Given the description of an element on the screen output the (x, y) to click on. 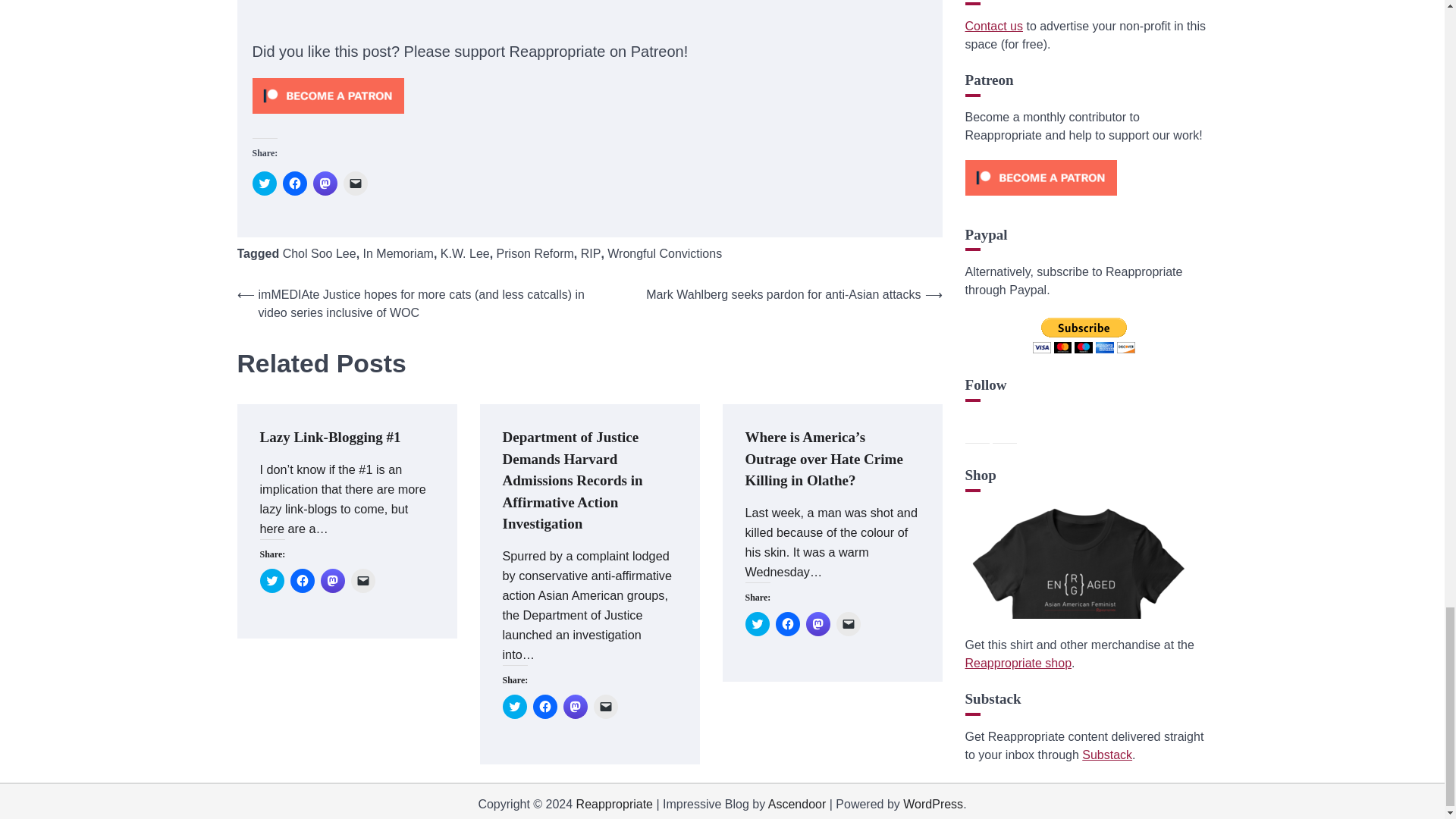
Click to email a link to a friend (354, 183)
Click to email a link to a friend (362, 580)
Click to share on Facebook (301, 580)
Click to share on Mastodon (324, 183)
Click to share on Facebook (293, 183)
Click to share on Facebook (544, 706)
Click to share on Facebook (786, 623)
Click to share on Twitter (513, 706)
Click to share on Mastodon (331, 580)
Click to share on Twitter (271, 580)
